Given the description of an element on the screen output the (x, y) to click on. 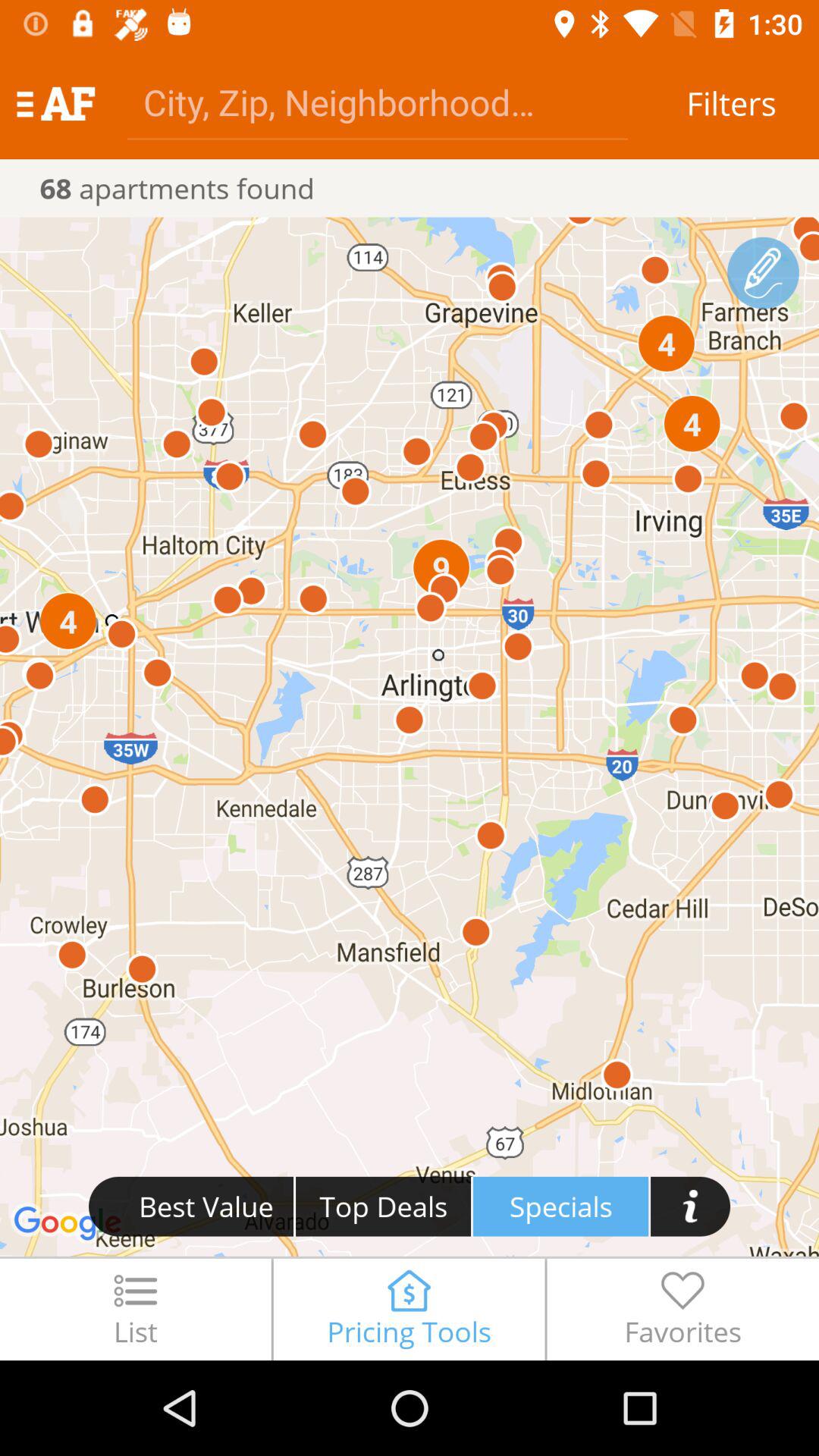
edit map area (763, 272)
